Given the description of an element on the screen output the (x, y) to click on. 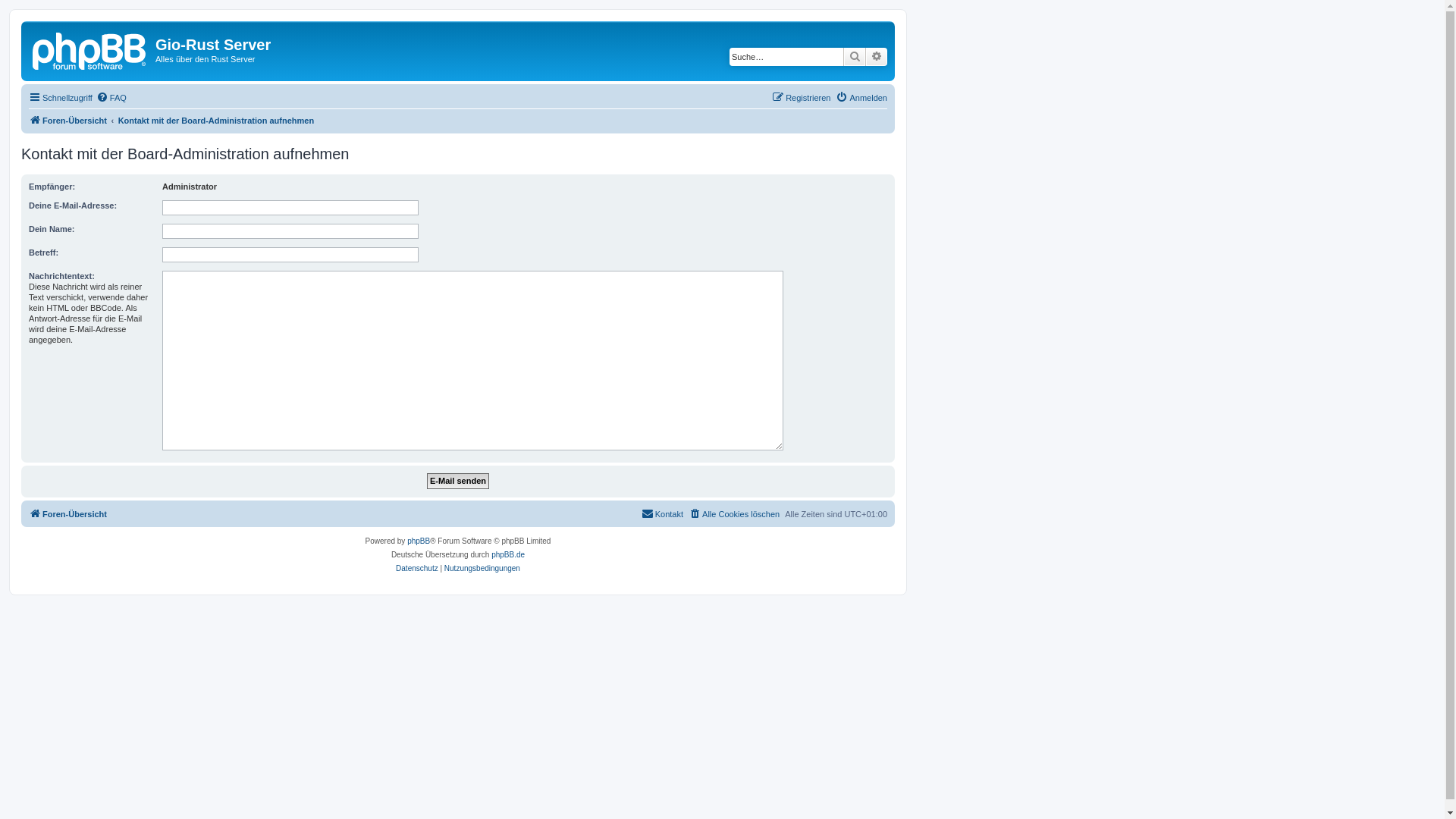
Nutzungsbedingungen Element type: text (482, 568)
phpBB Element type: text (418, 541)
Erweiterte Suche Element type: text (876, 56)
E-Mail senden Element type: text (457, 481)
Datenschutz Element type: text (416, 568)
Kontakt Element type: text (662, 514)
Anmelden Element type: text (861, 97)
Schnellzugriff Element type: text (60, 97)
Kontakt mit der Board-Administration aufnehmen Element type: text (216, 120)
Registrieren Element type: text (800, 97)
FAQ Element type: text (111, 97)
phpBB.de Element type: text (507, 554)
Suche Element type: text (854, 56)
